Given the description of an element on the screen output the (x, y) to click on. 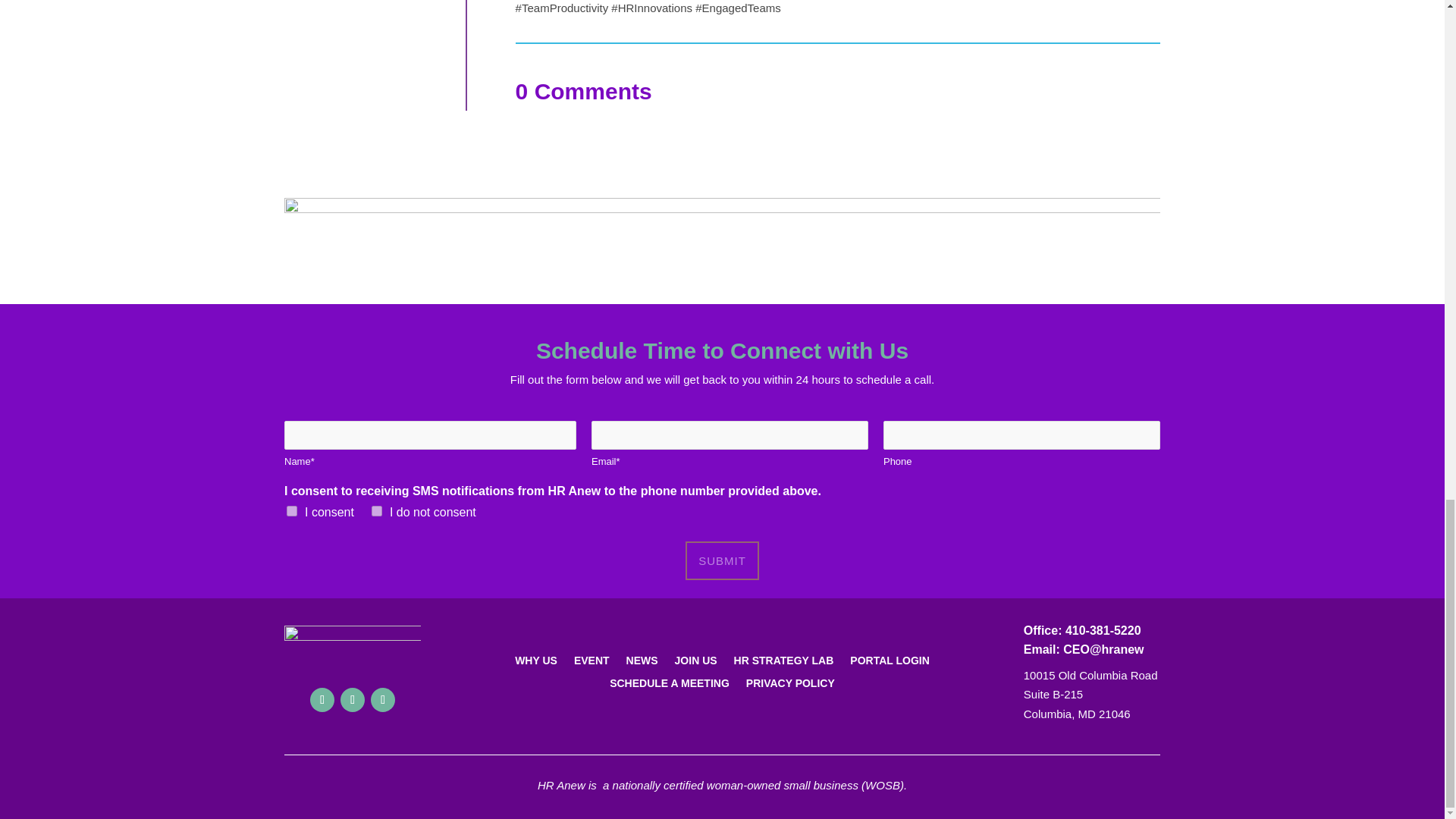
I consent (291, 511)
SUBMIT (721, 560)
Follow on X (352, 699)
I do not consent (376, 511)
Follow on Facebook (322, 699)
HR Anew Logos (721, 239)
Follow on LinkedIn (382, 699)
